Given the description of an element on the screen output the (x, y) to click on. 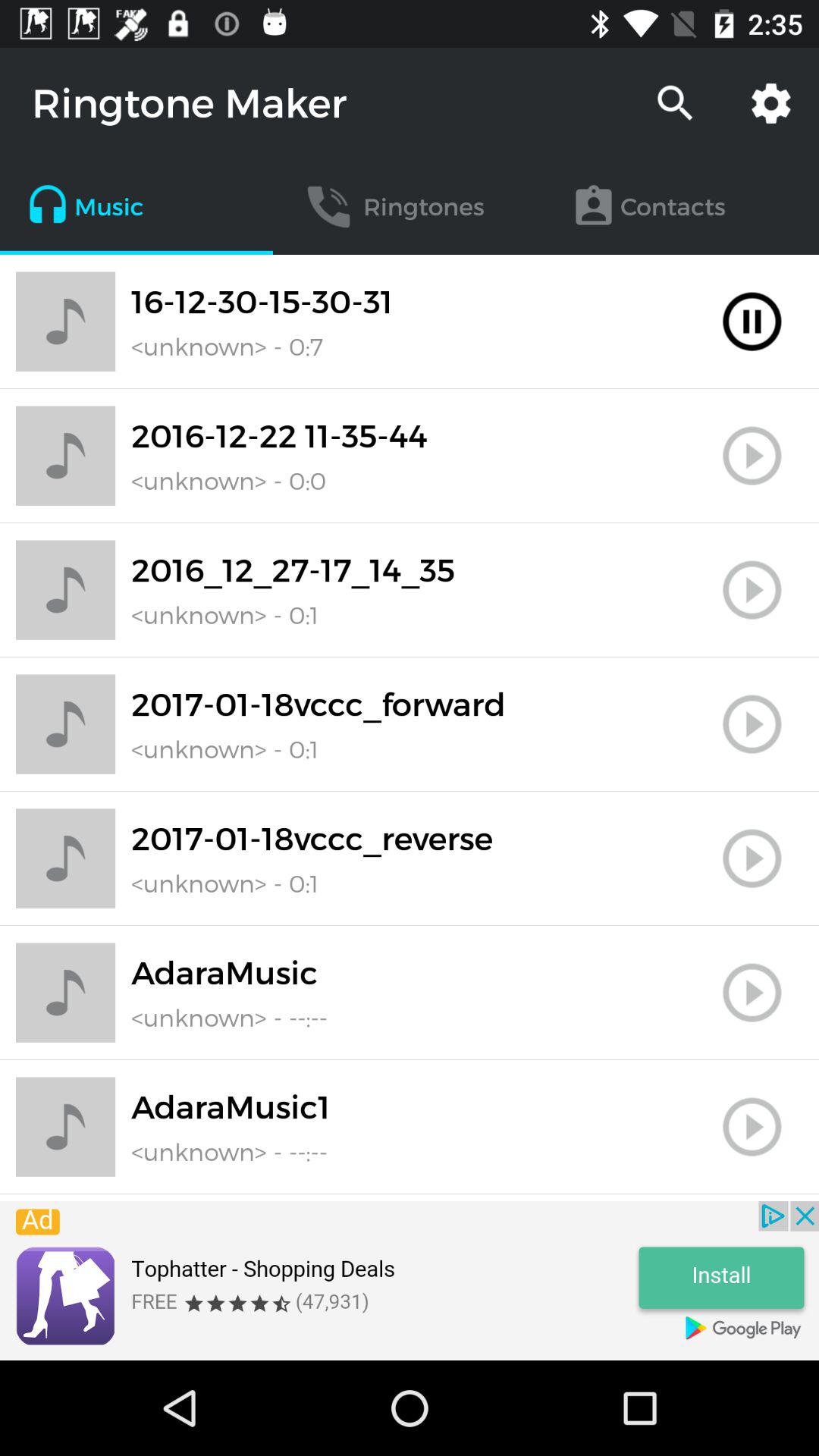
open tophatter advertisement (409, 1280)
